Given the description of an element on the screen output the (x, y) to click on. 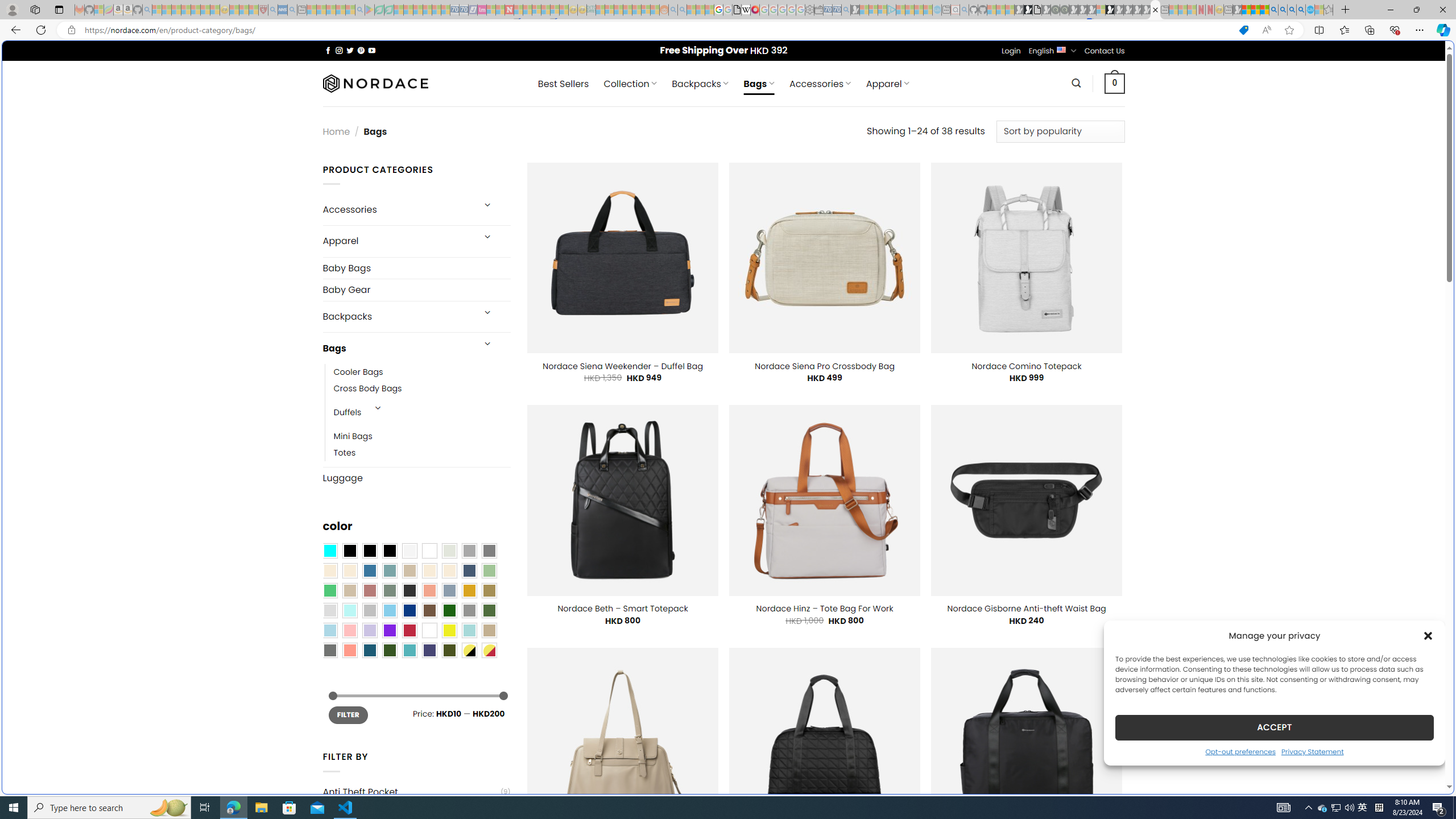
Yellow-Red (488, 649)
Navy Blue (408, 610)
Beige-Brown (349, 570)
Totes (422, 452)
Luggage (416, 477)
